Given the description of an element on the screen output the (x, y) to click on. 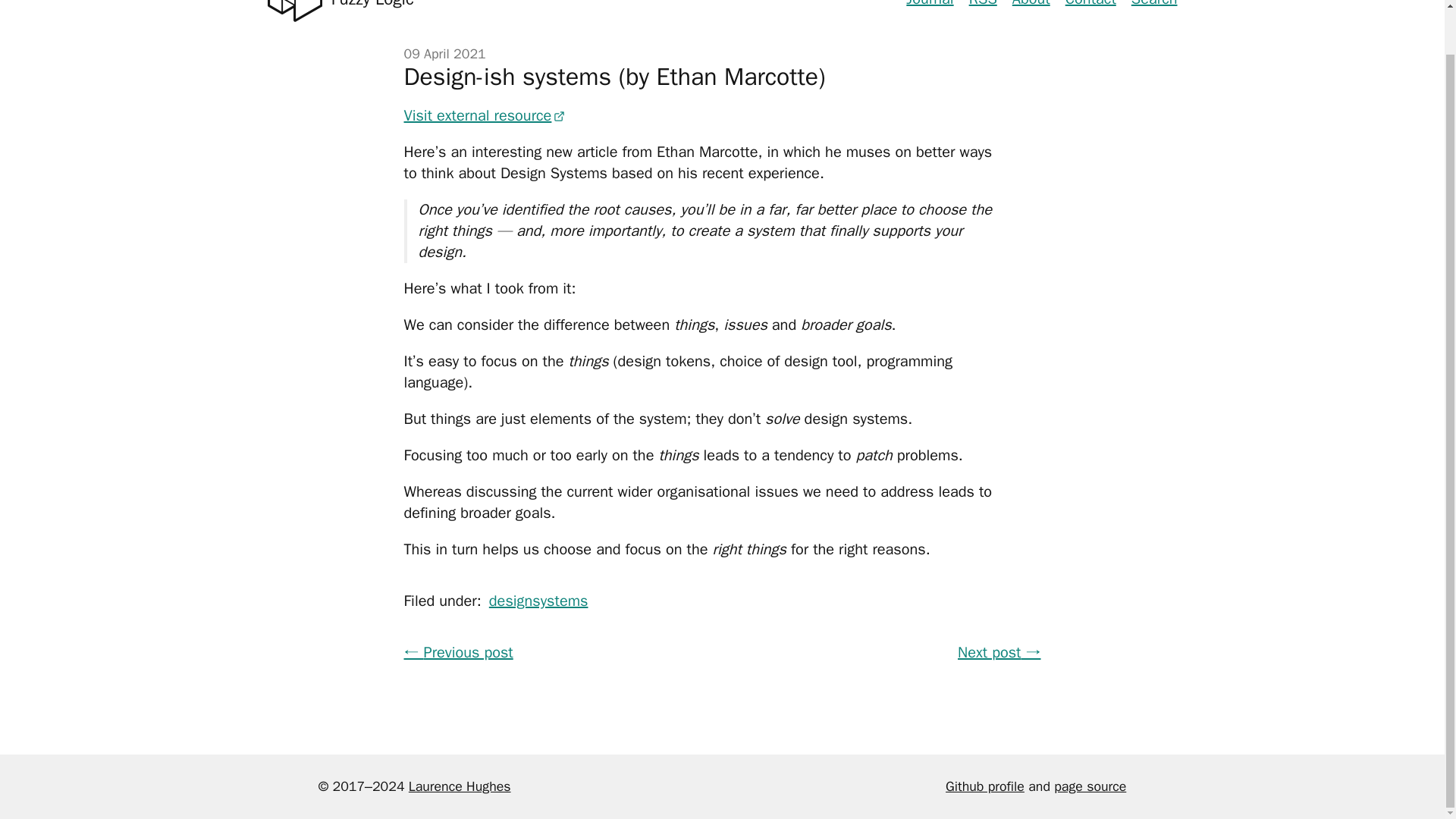
Search (1154, 4)
designsystems (538, 600)
Laurence Hughes (460, 786)
About (339, 11)
Github profile (1030, 4)
RSS (984, 786)
Visit external resource (983, 4)
Contact (483, 115)
page source (1090, 4)
